Given the description of an element on the screen output the (x, y) to click on. 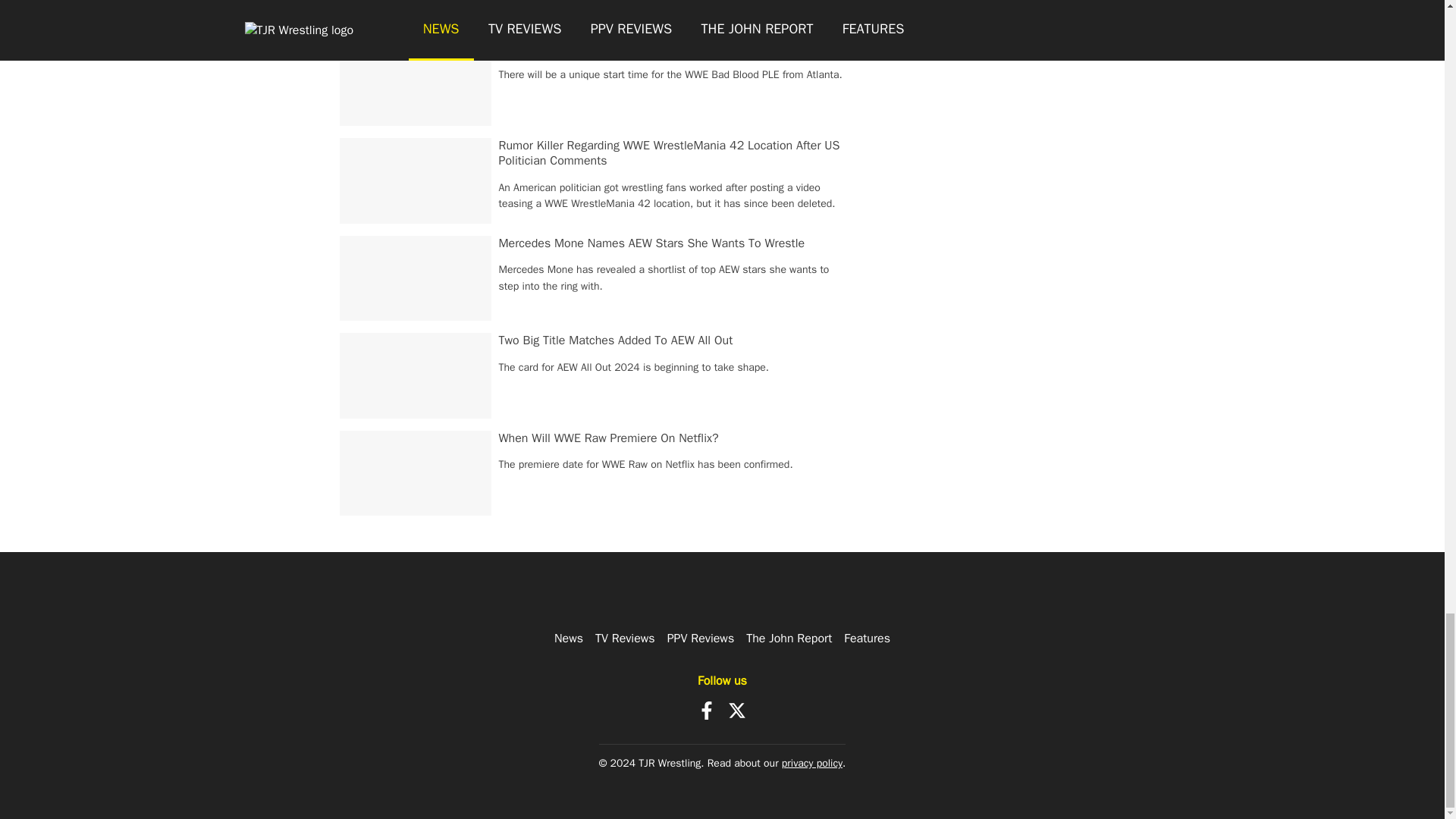
Mercedes Mone Names AEW Stars She Wants To Wrestle (652, 242)
Facebook (706, 710)
New Start Time Revealed For WWE Bad Blood PLE (630, 48)
X (736, 710)
